Given the description of an element on the screen output the (x, y) to click on. 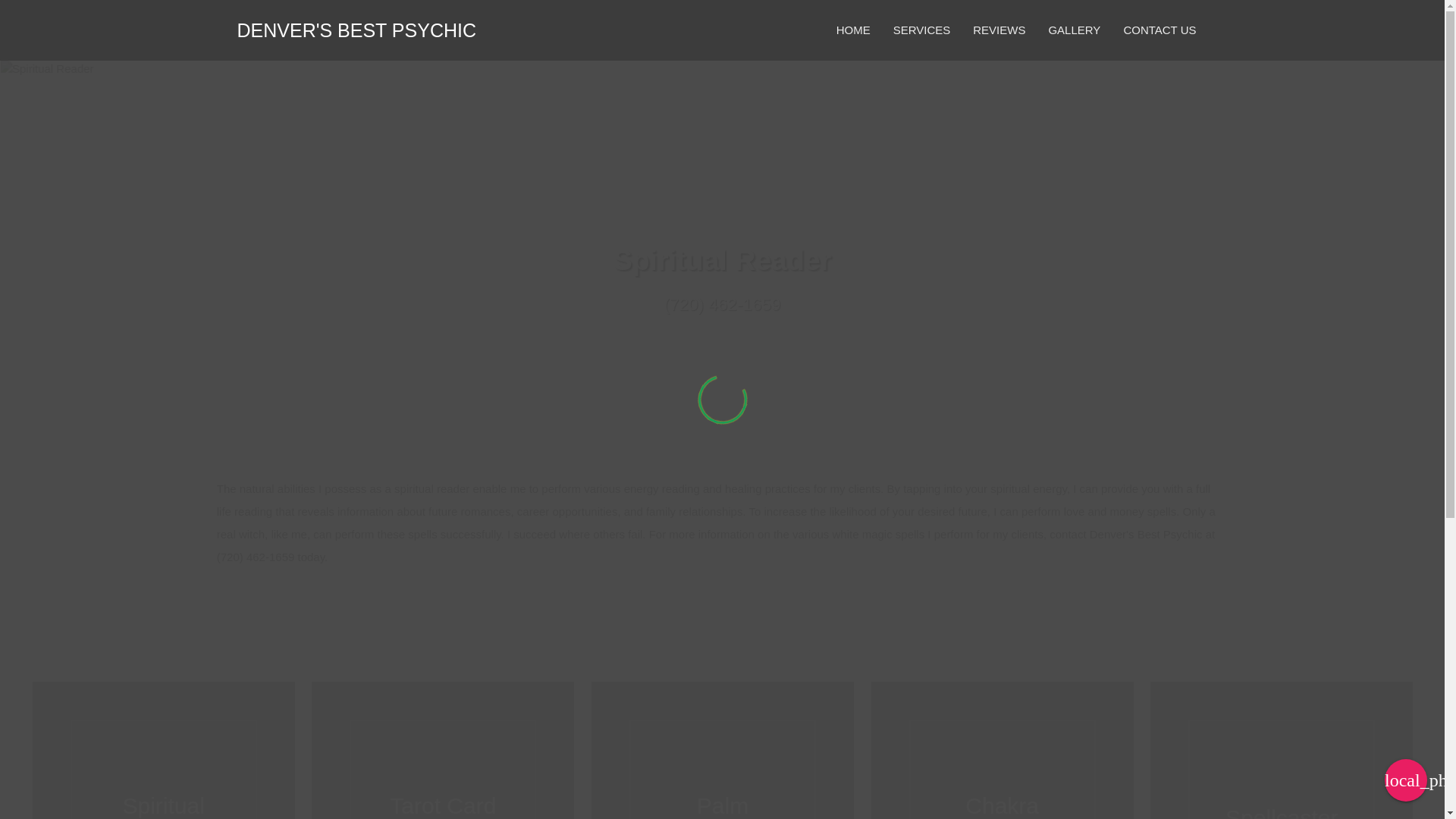
HOME (853, 30)
REVIEWS (998, 30)
CONTACT US (1159, 30)
SERVICES (922, 30)
DENVER'S BEST PSYCHIC (355, 31)
GALLERY (1074, 30)
